Given the description of an element on the screen output the (x, y) to click on. 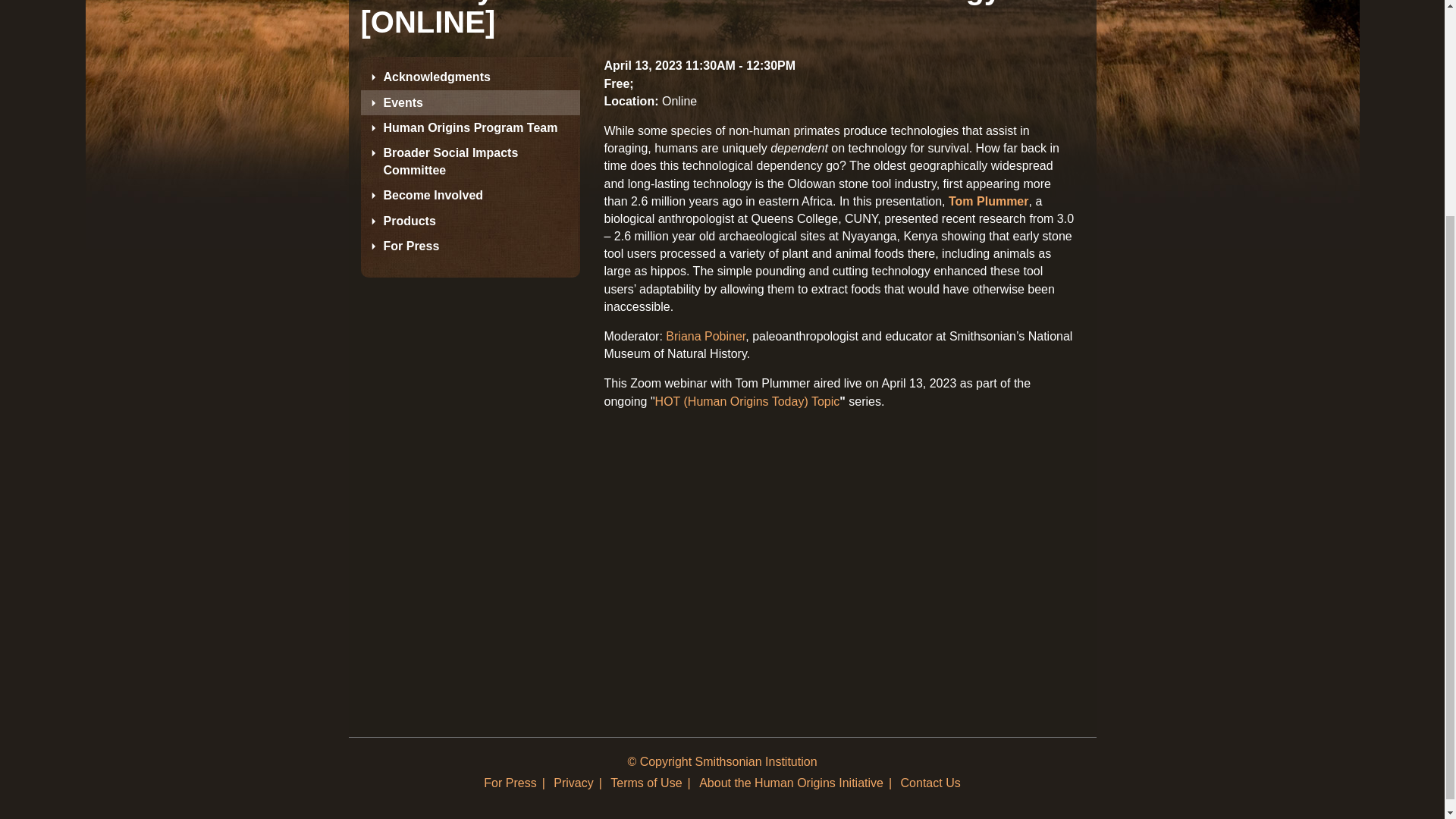
Copyright National Museum of Natural History (721, 761)
The Kaltura Dynamic Video Player (839, 554)
